Given the description of an element on the screen output the (x, y) to click on. 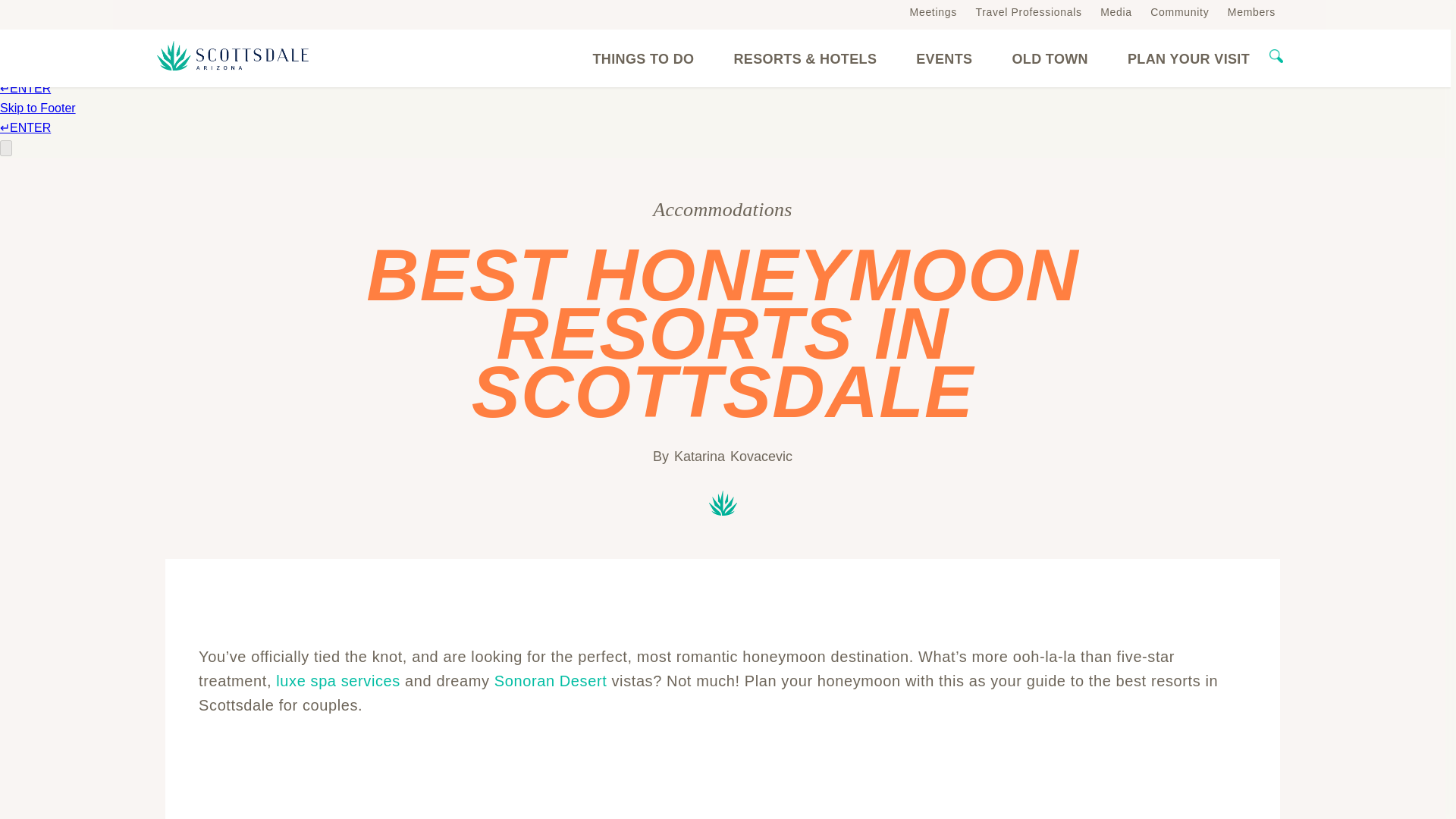
Meetings (933, 11)
Meetings (933, 11)
Travel Professionals (1028, 11)
